Given the description of an element on the screen output the (x, y) to click on. 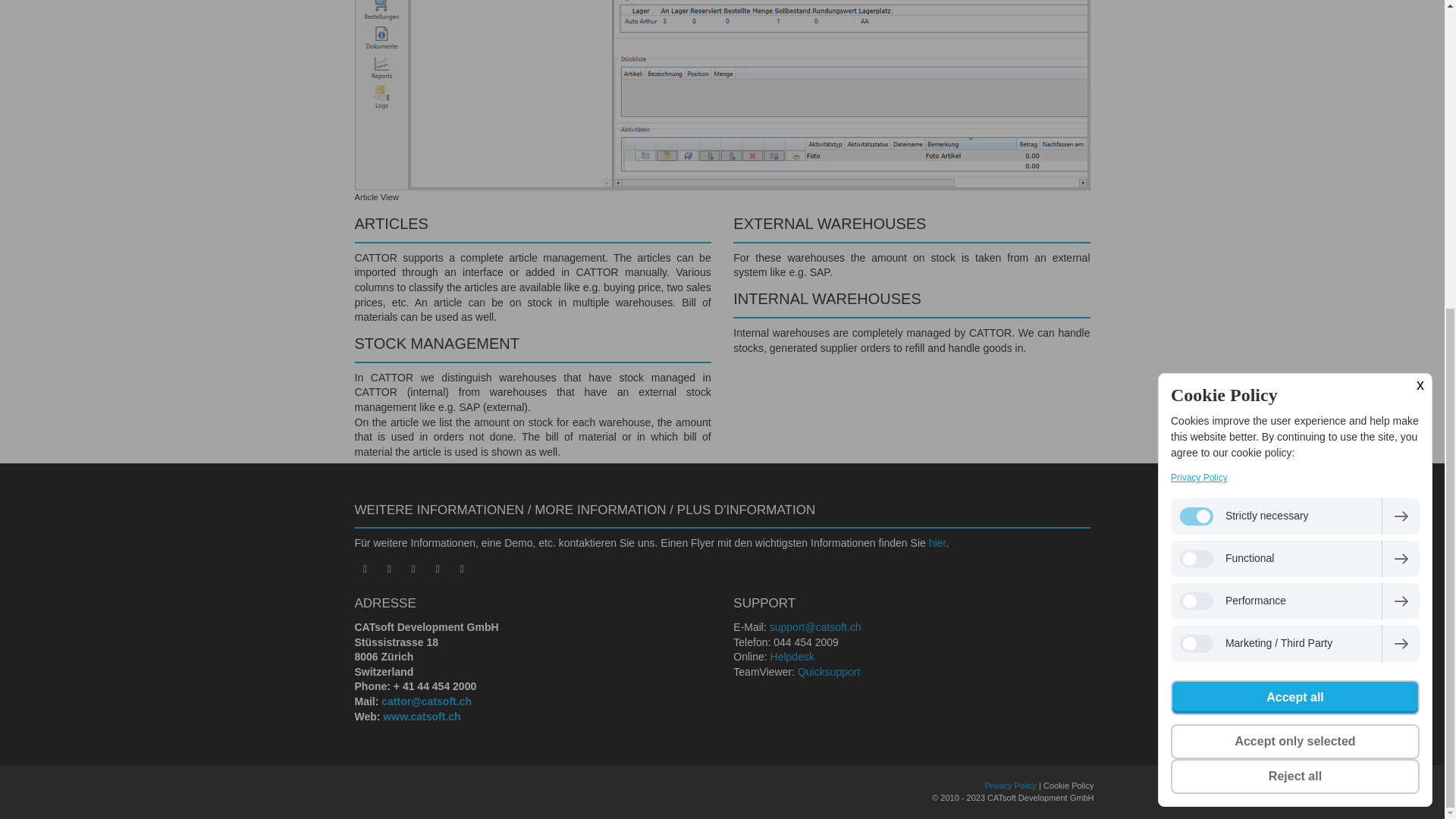
Email (414, 568)
Twitter (389, 568)
Xing (462, 568)
www.catsoft.ch (421, 716)
Evernote (438, 568)
Facebook (365, 568)
